Given the description of an element on the screen output the (x, y) to click on. 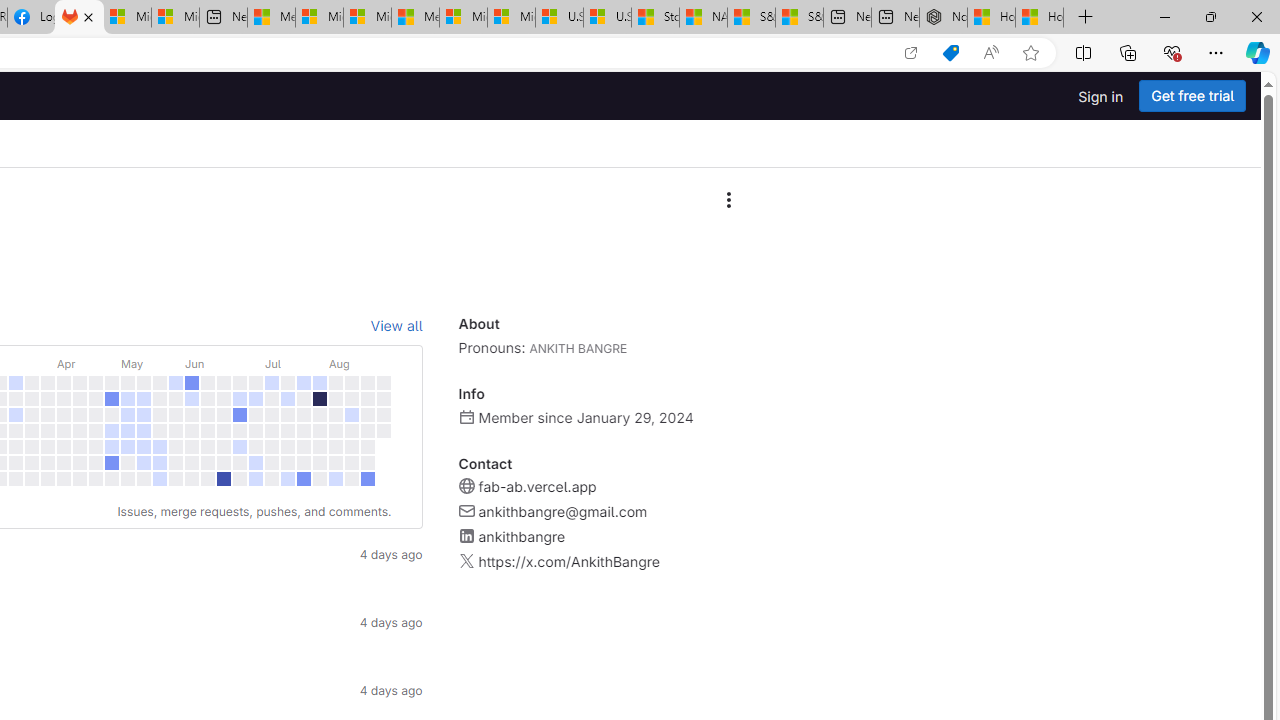
S&P 500, Nasdaq end lower, weighed by Nvidia dip | Watch (799, 17)
